Given the description of an element on the screen output the (x, y) to click on. 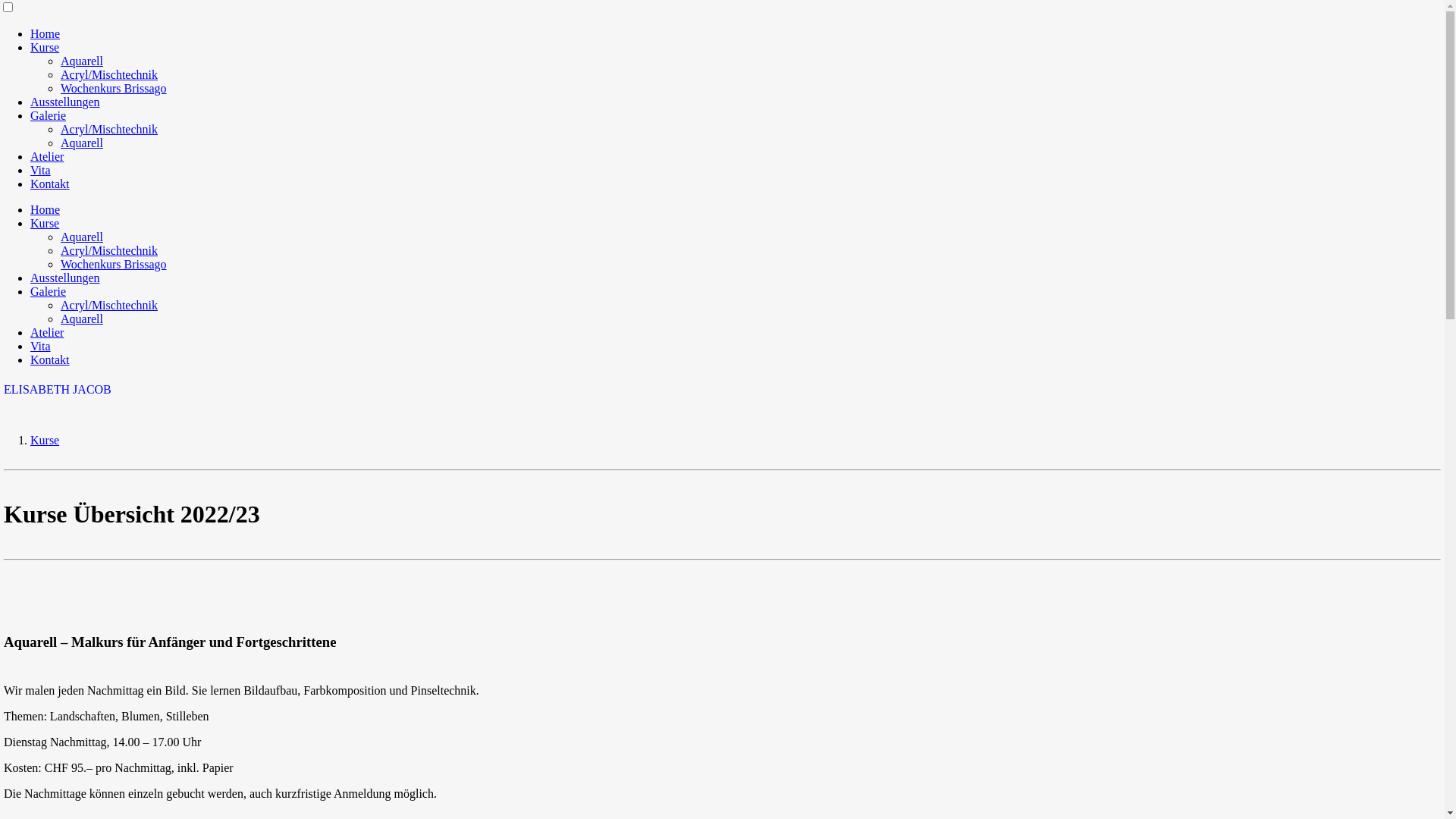
Vita Element type: text (40, 169)
Atelier Element type: text (46, 156)
Kontakt Element type: text (49, 359)
Wochenkurs Brissago Element type: text (113, 263)
Vita Element type: text (40, 345)
Acryl/Mischtechnik Element type: text (108, 304)
Atelier Element type: text (46, 332)
Kurse Element type: text (44, 439)
Aquarell Element type: text (81, 60)
Acryl/Mischtechnik Element type: text (108, 74)
Aquarell Element type: text (81, 318)
Aquarell Element type: text (81, 142)
Kontakt Element type: text (49, 183)
Ausstellungen Element type: text (65, 277)
Home Element type: text (44, 33)
Wochenkurs Brissago Element type: text (113, 87)
Kurse Element type: text (44, 46)
Aquarell Element type: text (81, 236)
Kurse Element type: text (44, 222)
Galerie Element type: text (47, 291)
Home Element type: text (44, 209)
ELISABETH JACOB Element type: text (721, 389)
Acryl/Mischtechnik Element type: text (108, 250)
Galerie Element type: text (47, 115)
Acryl/Mischtechnik Element type: text (108, 128)
Ausstellungen Element type: text (65, 101)
